Given the description of an element on the screen output the (x, y) to click on. 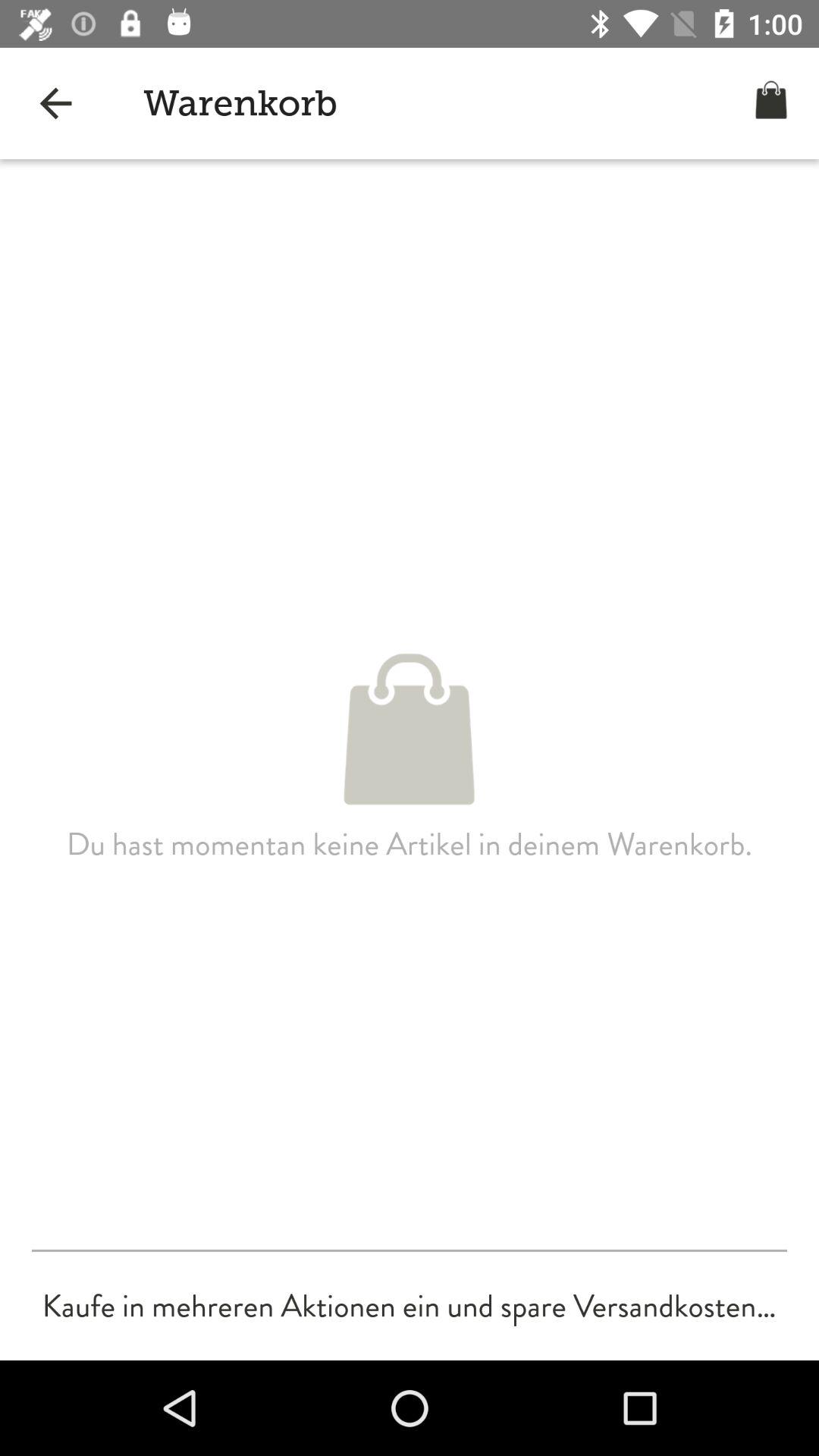
choose app next to warenkorb item (55, 103)
